Given the description of an element on the screen output the (x, y) to click on. 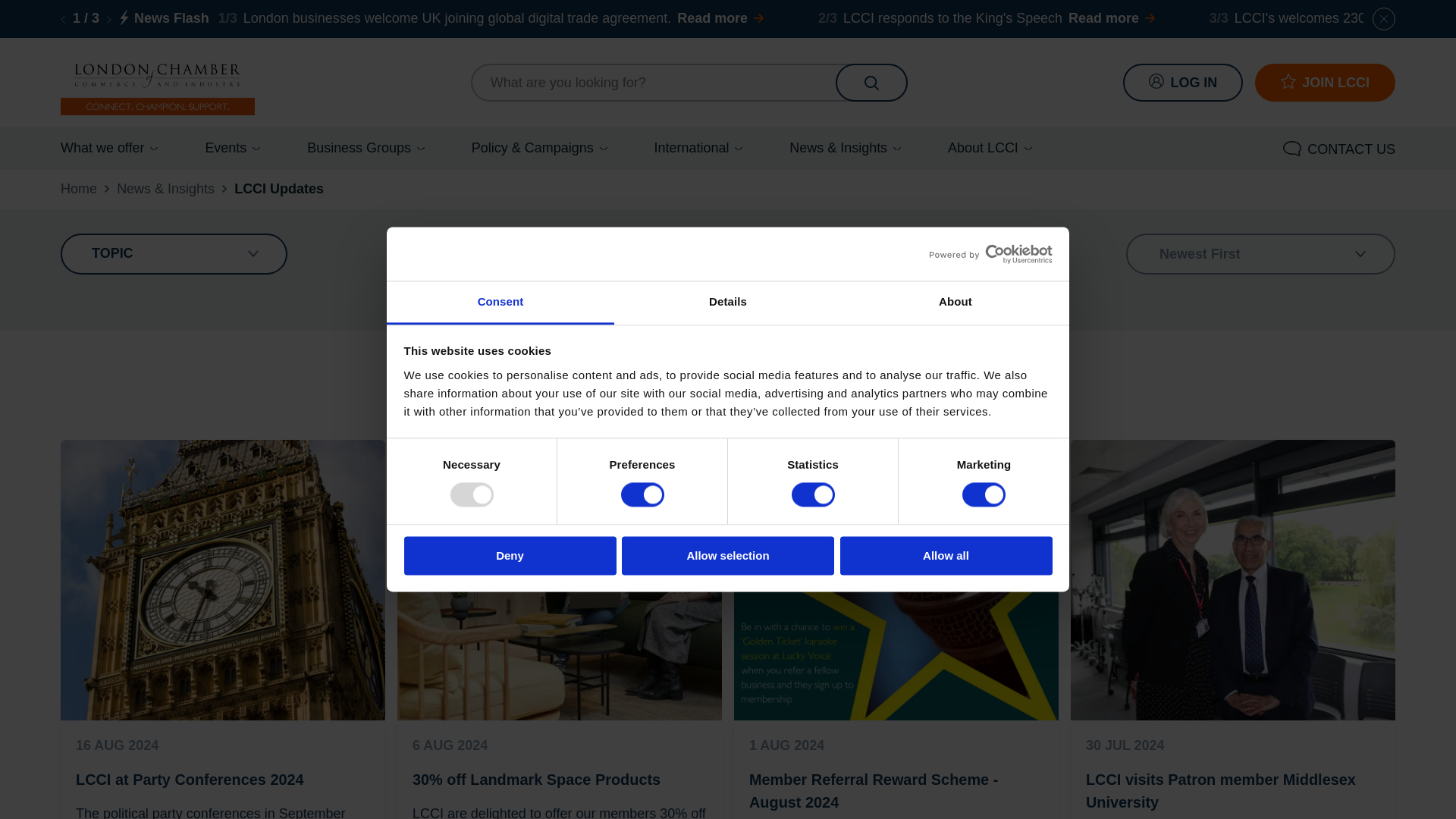
Deny (509, 555)
About (954, 302)
close (1383, 18)
Details (727, 302)
Consent (500, 302)
Allow selection (727, 555)
Allow all (946, 555)
LCCI Updates (278, 189)
